Given the description of an element on the screen output the (x, y) to click on. 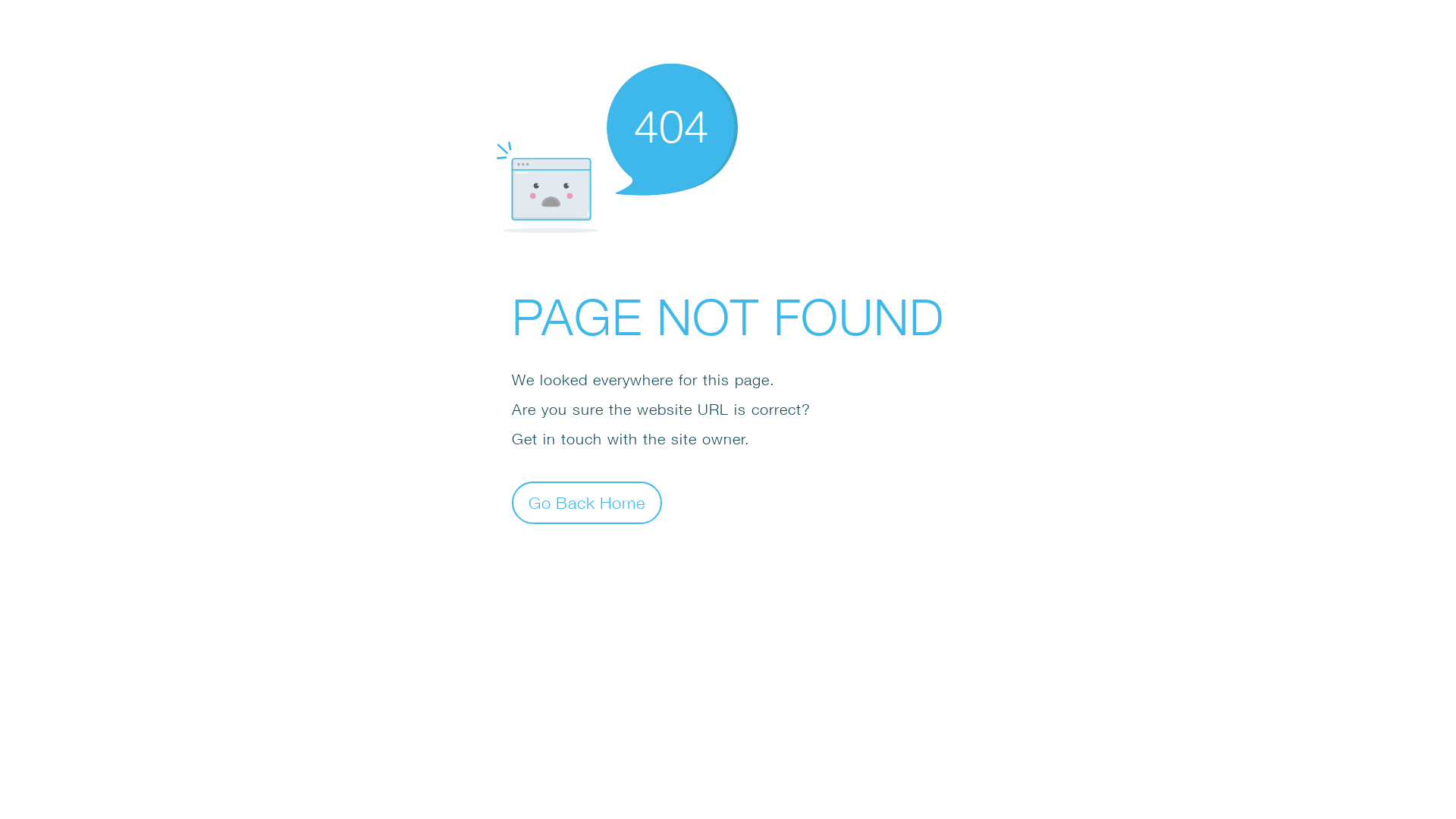
Go Back Home Element type: text (586, 502)
